Given the description of an element on the screen output the (x, y) to click on. 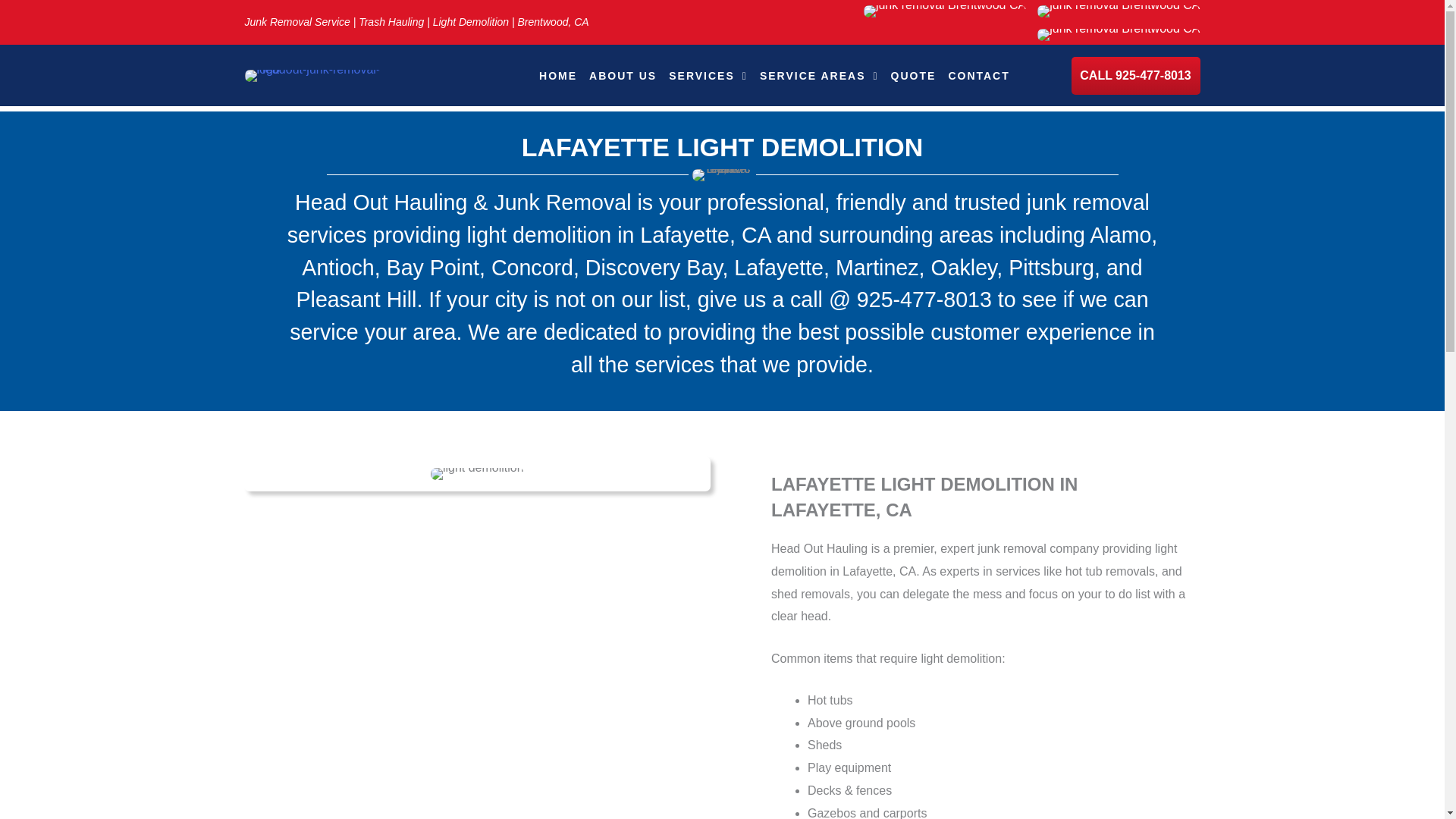
HOME (558, 75)
slide3 (477, 473)
SERVICES (707, 75)
mail (1117, 34)
QUOTE (913, 75)
fb (944, 10)
Headout-junk-removal-logo (312, 75)
SERVICE AREAS (818, 75)
CONTACT (977, 75)
fbff5 (1117, 10)
